Given the description of an element on the screen output the (x, y) to click on. 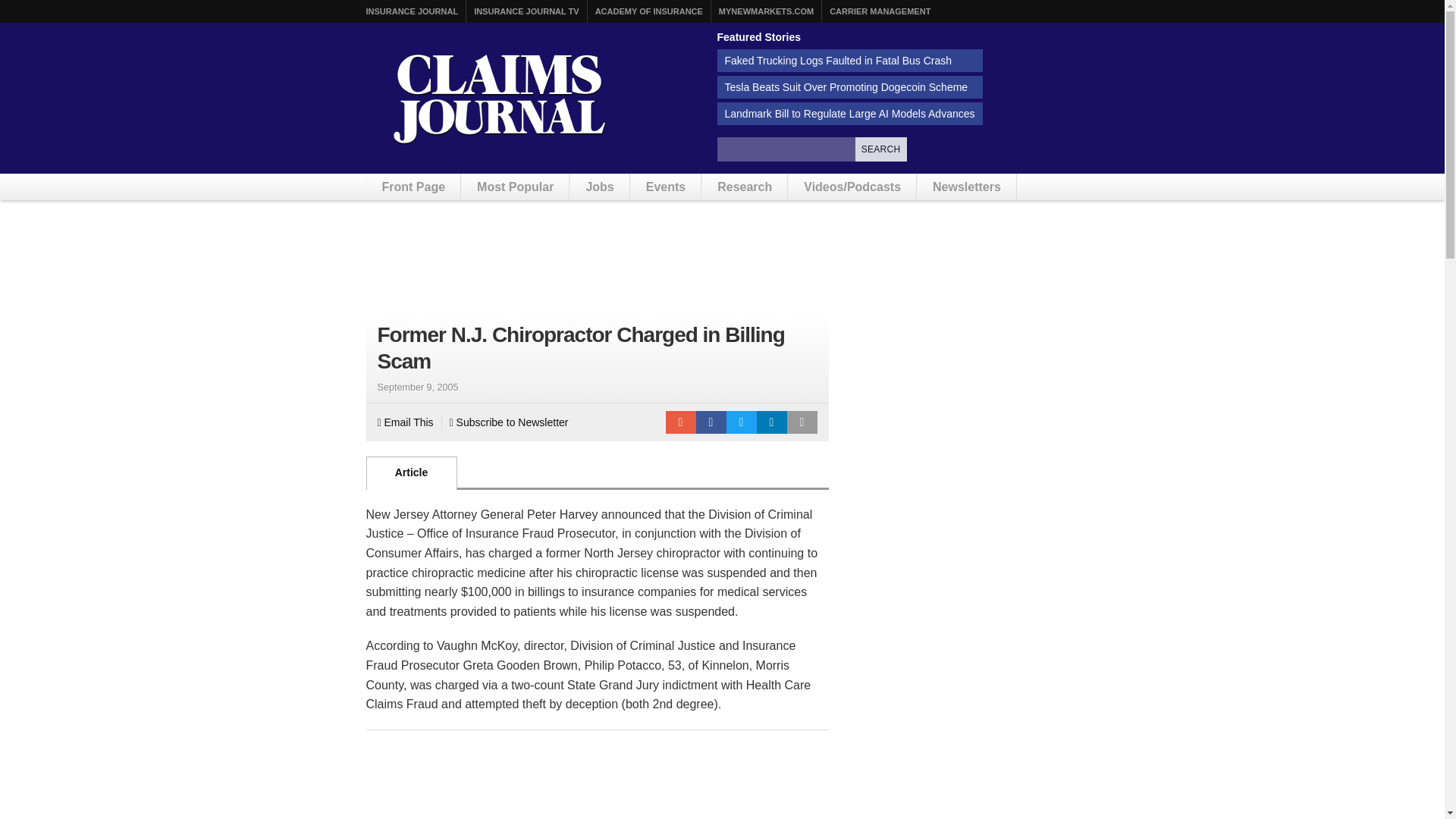
Share on LinkedIn. (772, 422)
Facebook (710, 422)
Most Popular (515, 186)
Print Article (801, 422)
Front Page (413, 186)
INSURANCE JOURNAL (411, 11)
Tweet (741, 422)
Research (744, 186)
ACADEMY OF INSURANCE (649, 11)
MYNEWMARKETS.COM (766, 11)
